Given the description of an element on the screen output the (x, y) to click on. 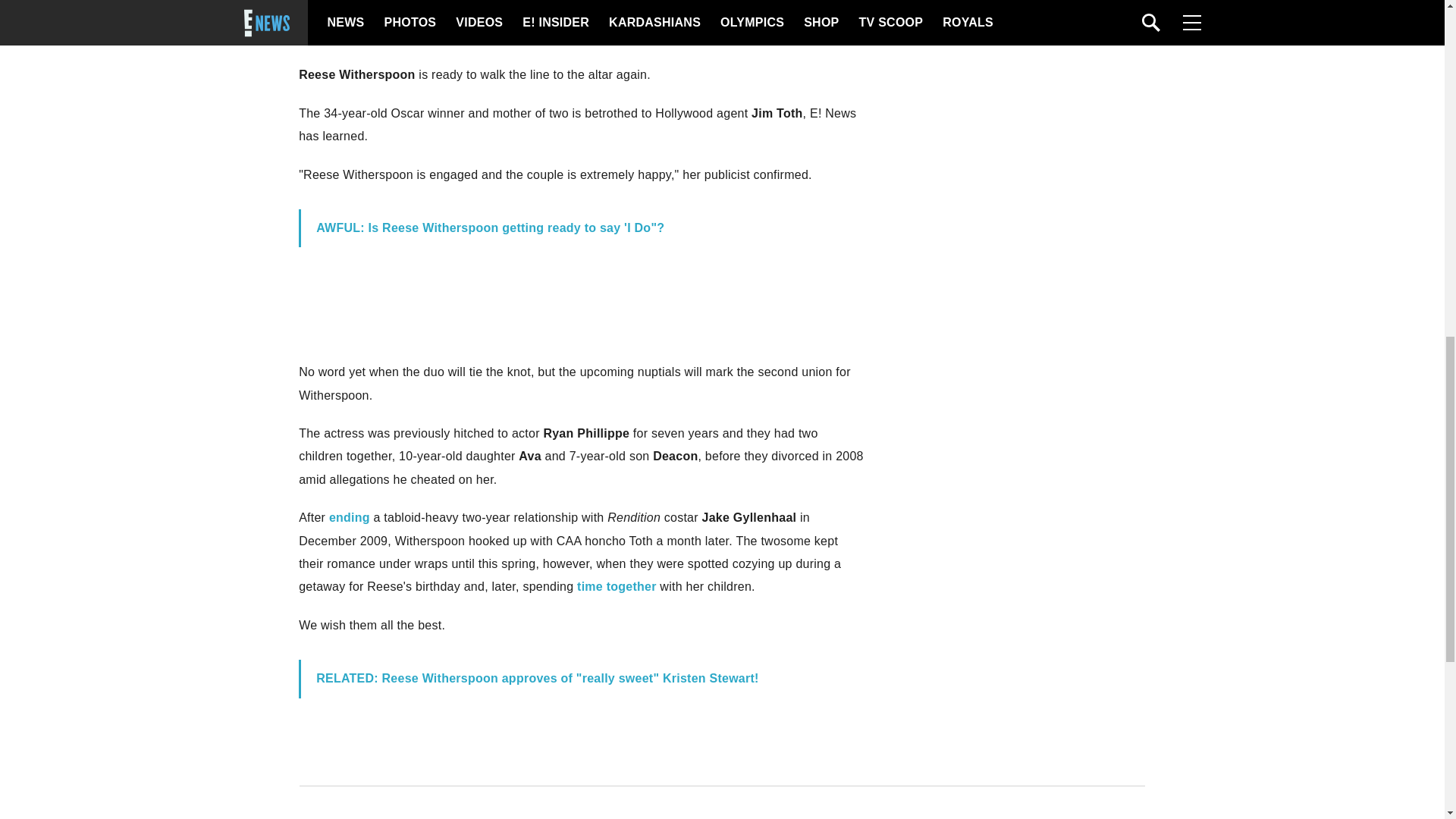
AWFUL: Is Reese Witherspoon getting ready to say 'I Do"? (489, 227)
time together (617, 585)
ending (349, 517)
